Given the description of an element on the screen output the (x, y) to click on. 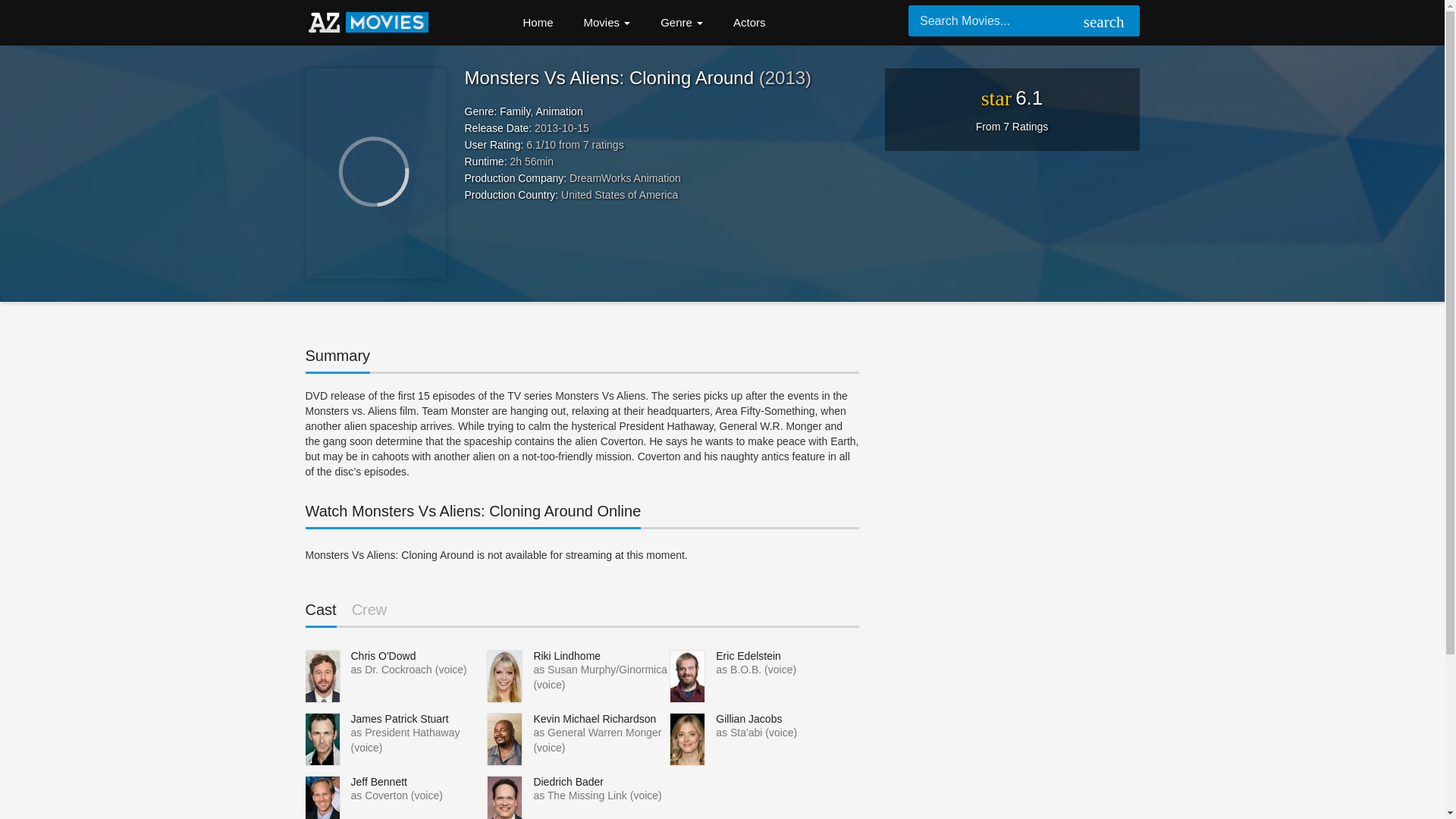
search (1101, 22)
Crew (369, 613)
Movies (607, 22)
Family (514, 111)
Actors (748, 22)
Cast (320, 614)
Riki Lindhome (565, 655)
Animation (558, 111)
Home (538, 22)
Genre (681, 22)
